Given the description of an element on the screen output the (x, y) to click on. 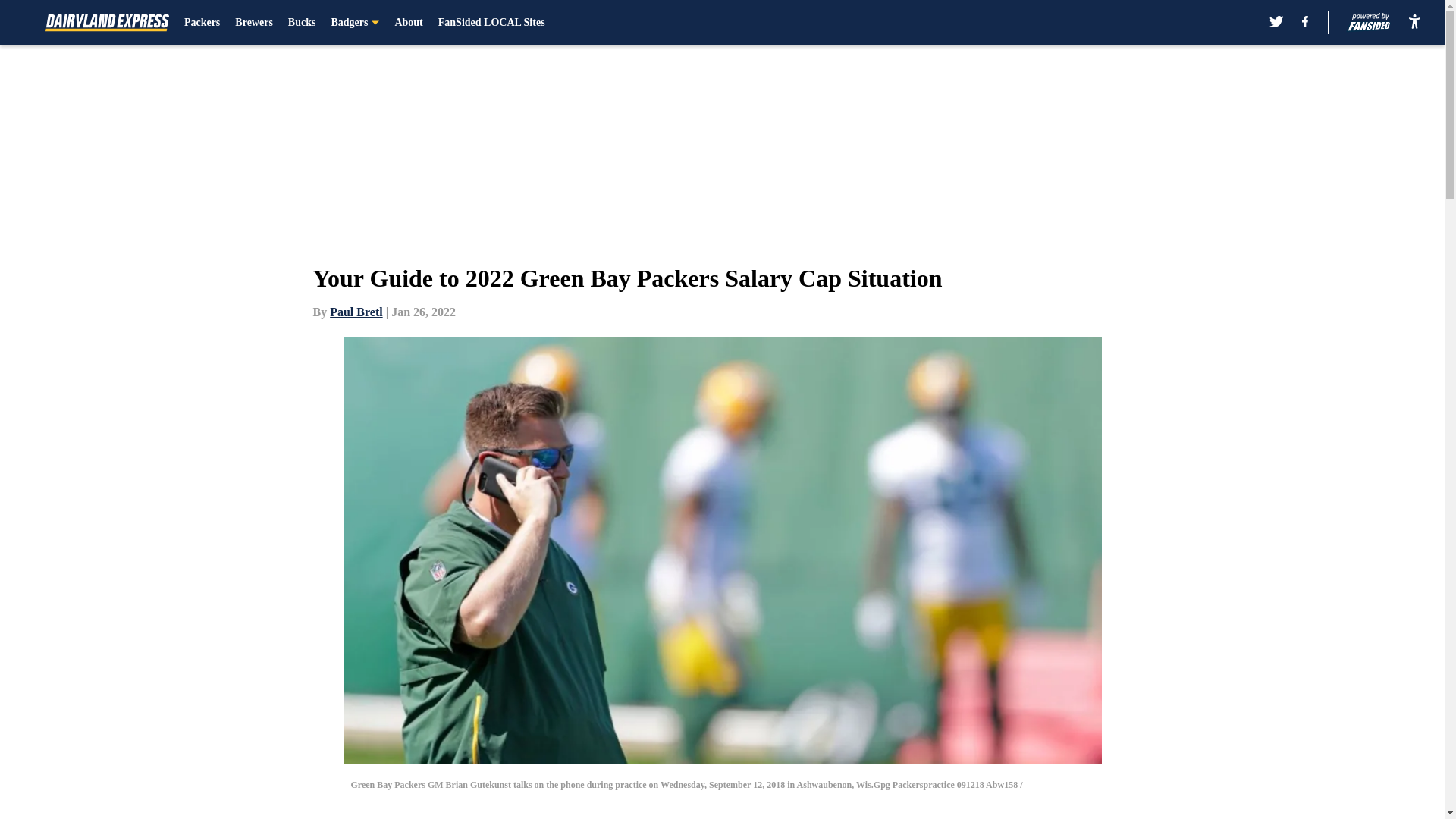
About (408, 22)
Bucks (301, 22)
FanSided LOCAL Sites (491, 22)
Brewers (253, 22)
Paul Bretl (355, 311)
Packers (201, 22)
